Given the description of an element on the screen output the (x, y) to click on. 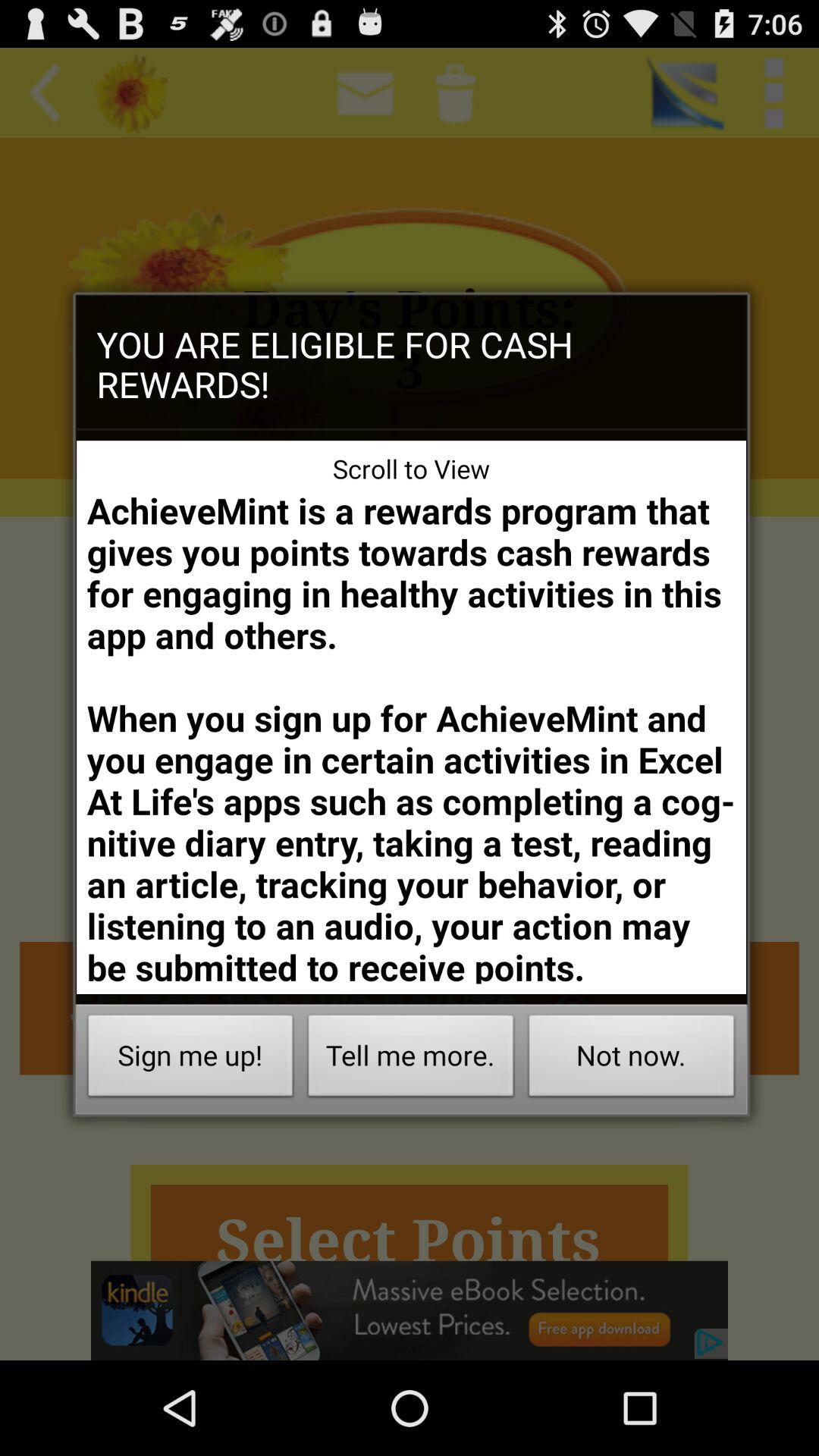
press the item at the bottom right corner (631, 1059)
